Given the description of an element on the screen output the (x, y) to click on. 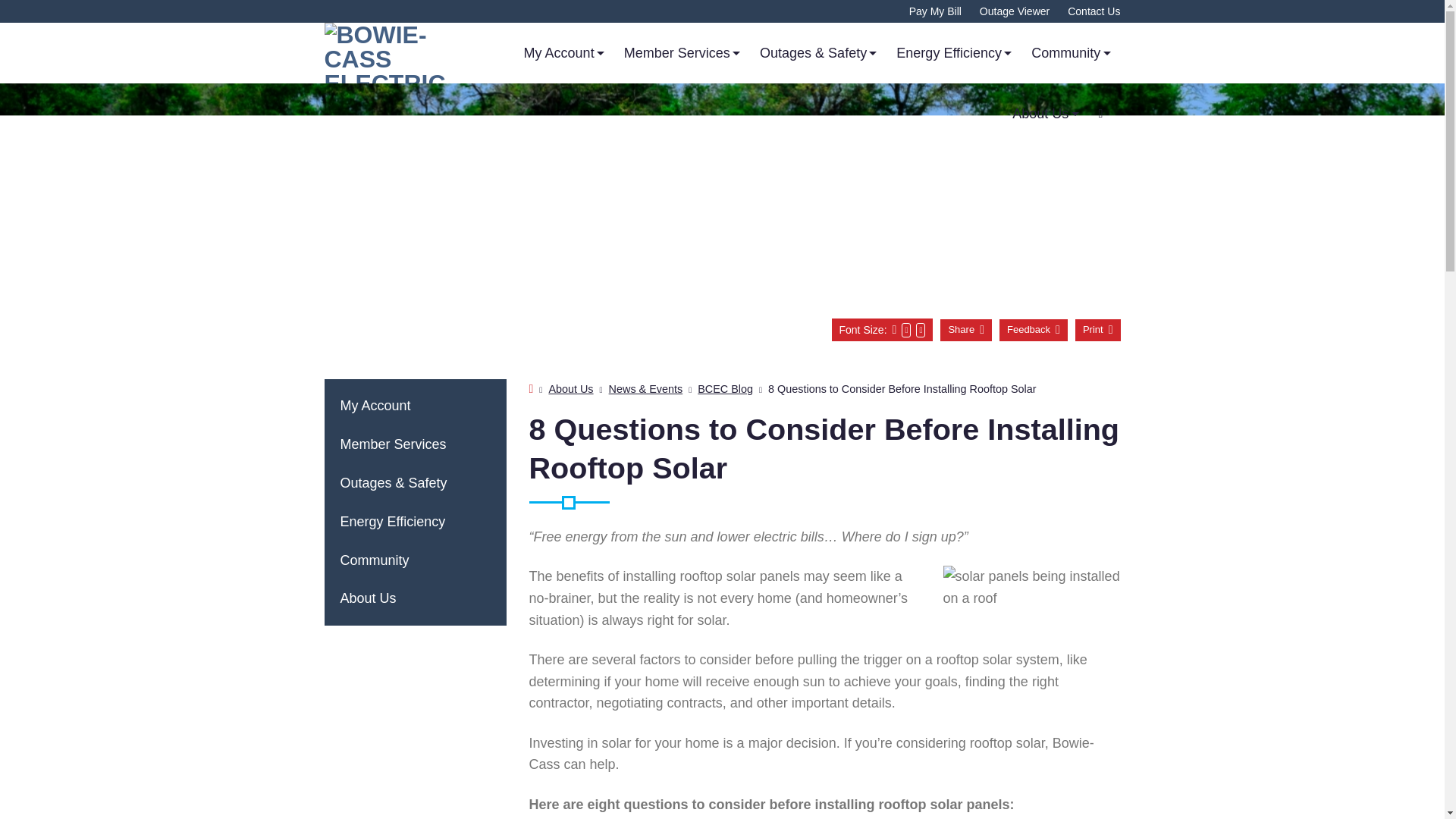
Bowie-Cass Electric Cooperative (396, 52)
Outage Viewer (1014, 11)
Go to BCEC Blog. (724, 388)
Energy Efficiency (953, 52)
My Account (564, 52)
About Us (1044, 113)
Pay My Bill (934, 11)
Member Services (681, 52)
Go to About Us. (570, 388)
Contact Us (1093, 11)
